Given the description of an element on the screen output the (x, y) to click on. 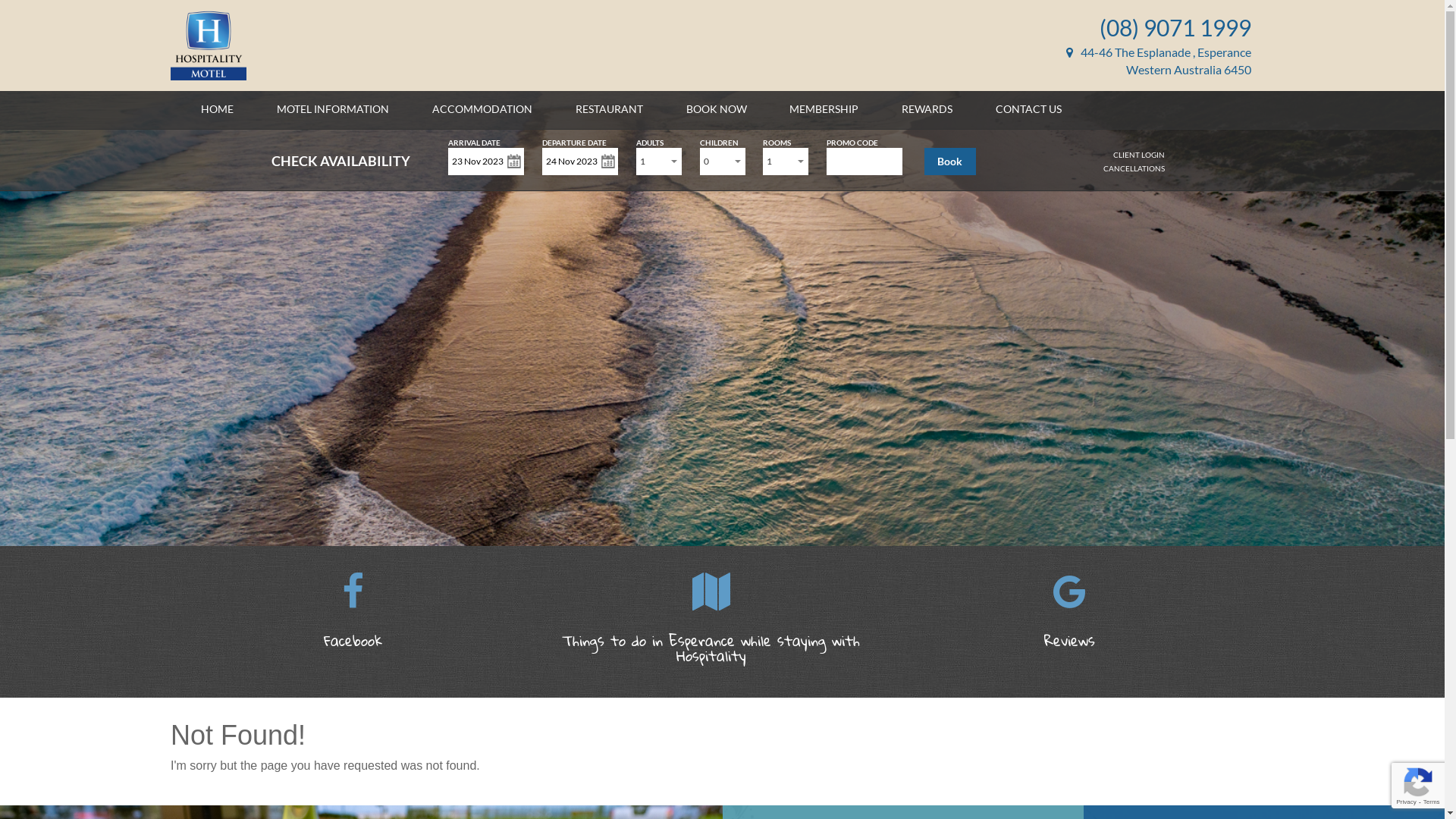
Reviews Element type: text (1070, 621)
Things to do in Esperance while staying with Hospitality Element type: text (711, 628)
Facebook Element type: text (352, 621)
REWARDS Element type: text (926, 109)
RESTAURANT Element type: text (609, 109)
CLIENT LOGIN Element type: text (1138, 154)
CANCELLATIONS Element type: text (1133, 167)
MEMBERSHIP Element type: text (823, 109)
(08) 9071 1999 Element type: text (1175, 26)
44-46 The Esplanade , Esperance
Western Australia 6450 Element type: text (1158, 60)
MOTEL INFORMATION Element type: text (332, 109)
ACCOMMODATION Element type: text (482, 109)
Book Element type: text (949, 161)
BOOK NOW Element type: text (716, 109)
CONTACT US Element type: text (1028, 109)
HOME Element type: text (216, 109)
